Given the description of an element on the screen output the (x, y) to click on. 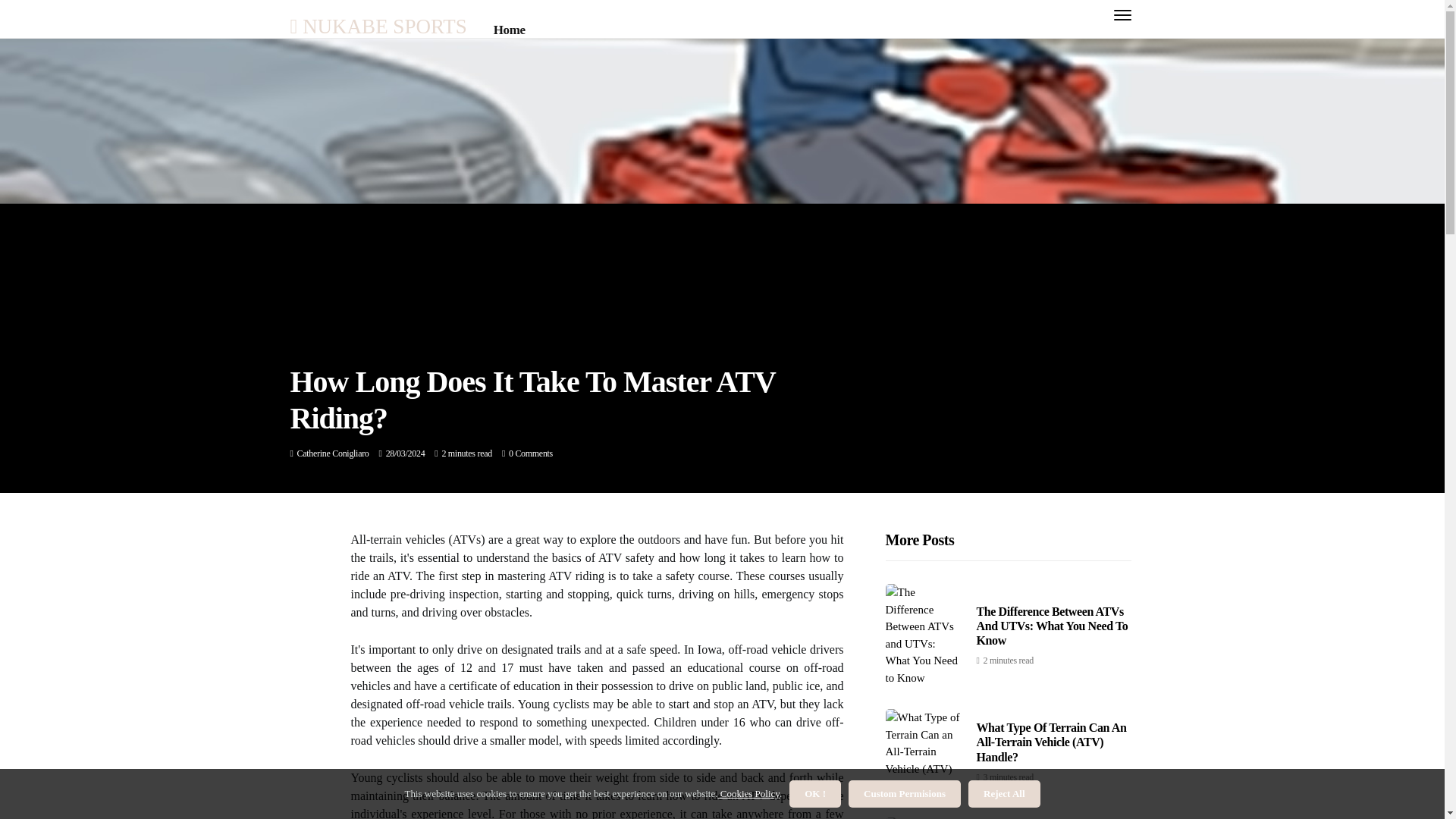
Catherine Conigliaro (333, 452)
Posts by Catherine Conigliaro (333, 452)
The Difference Between ATVs And UTVs: What You Need To Know (1052, 626)
NUKABE SPORTS (377, 26)
0 Comments (530, 452)
